Given the description of an element on the screen output the (x, y) to click on. 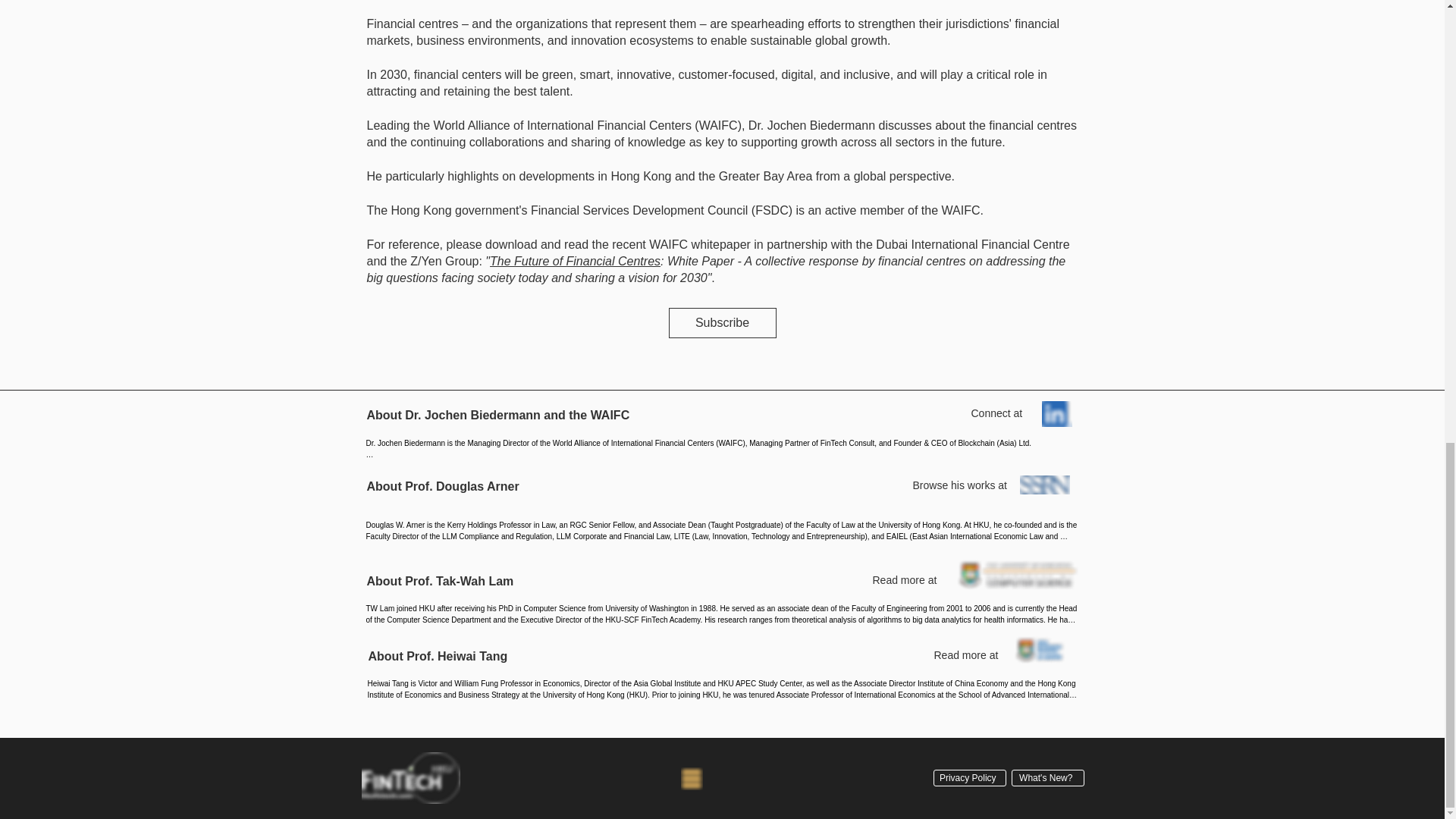
Subscribe (722, 322)
What's New? (1047, 777)
Privacy Policy (969, 777)
HKU FinTech Logo (410, 777)
The Future of Financial Centres (575, 260)
Menu (692, 778)
